Given the description of an element on the screen output the (x, y) to click on. 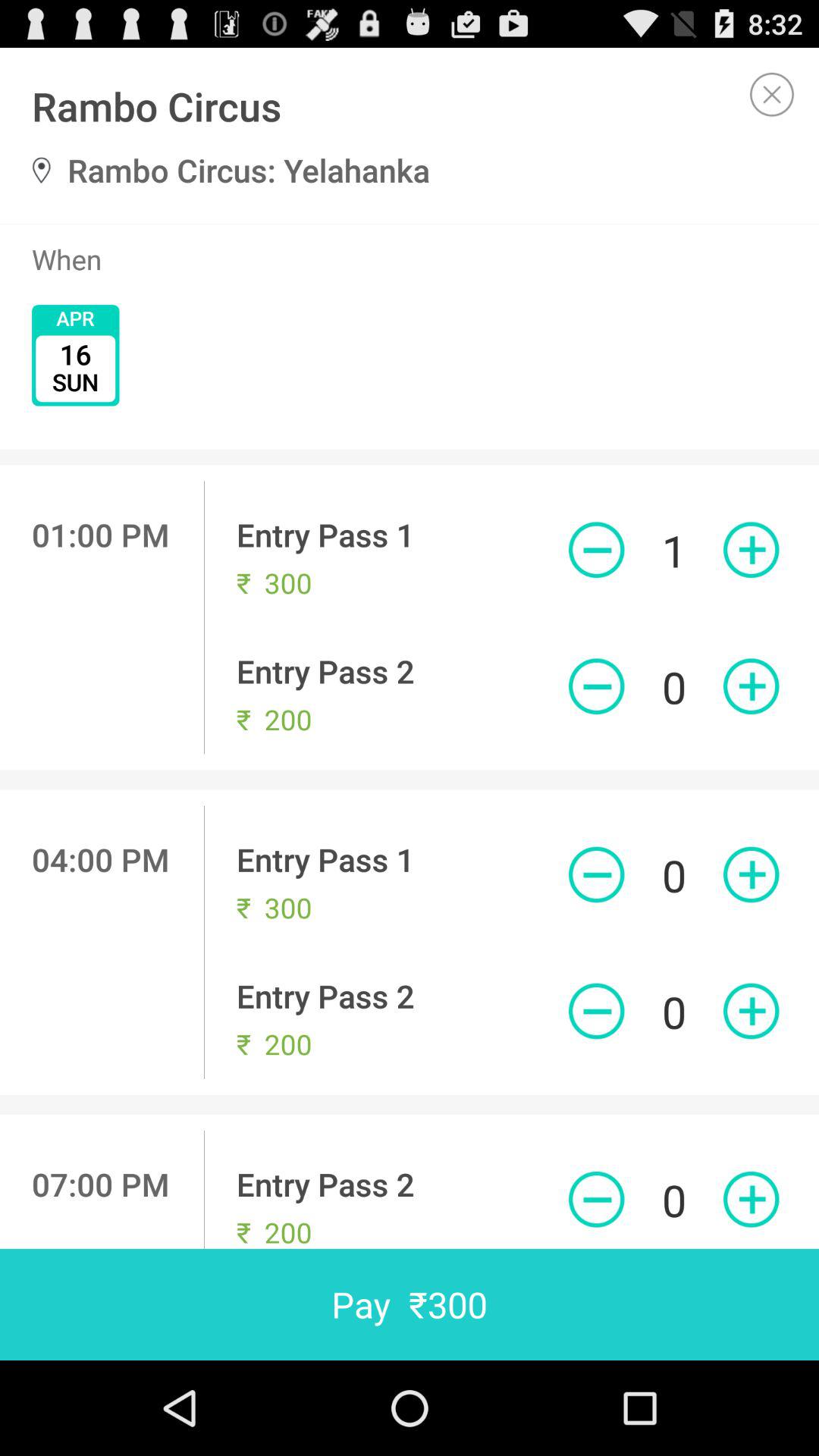
close option (772, 94)
